Given the description of an element on the screen output the (x, y) to click on. 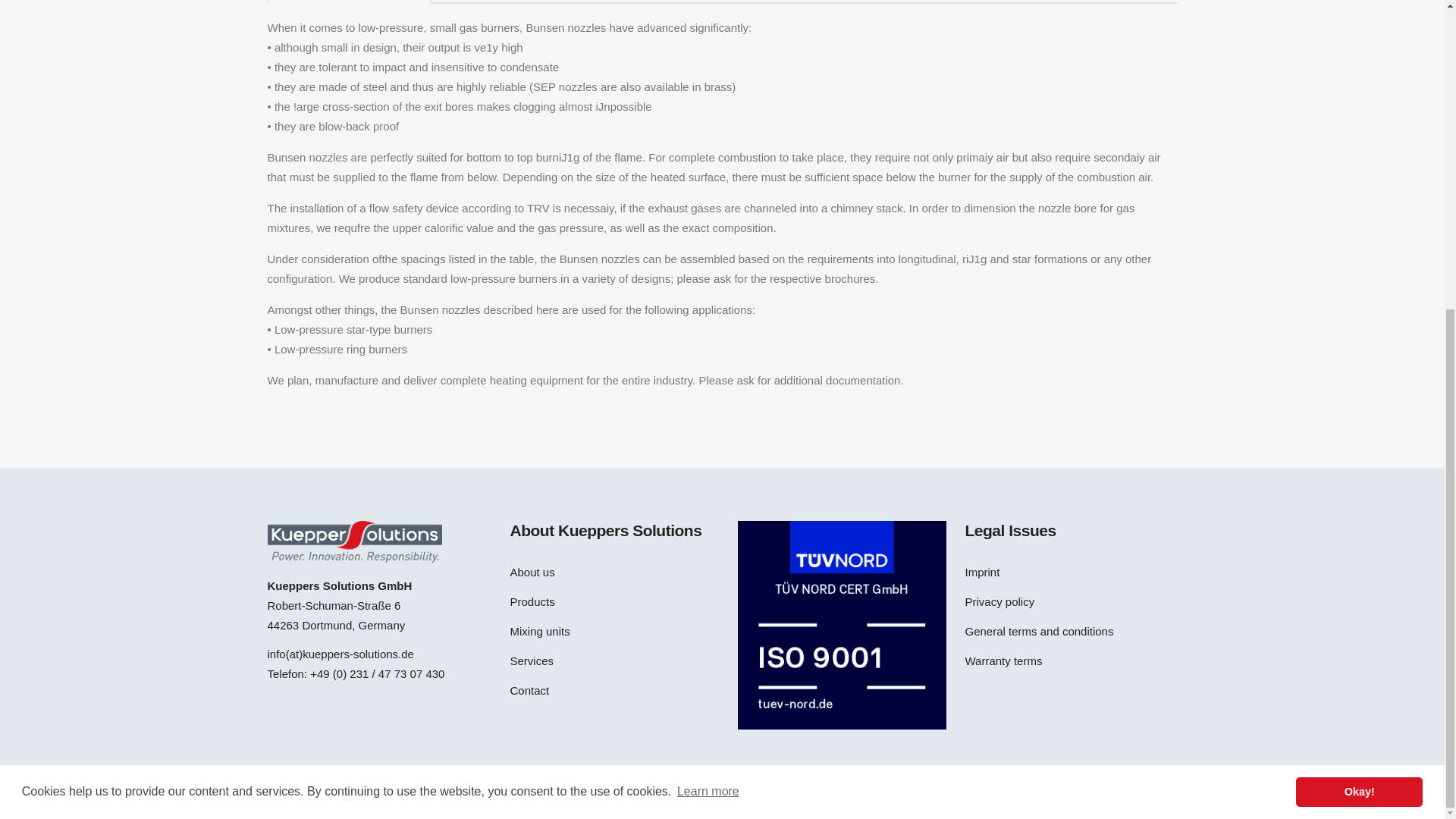
Learn more (708, 302)
Okay! (1358, 302)
Product description (348, 2)
Mixing units (611, 631)
About us (611, 572)
Products (611, 601)
